Given the description of an element on the screen output the (x, y) to click on. 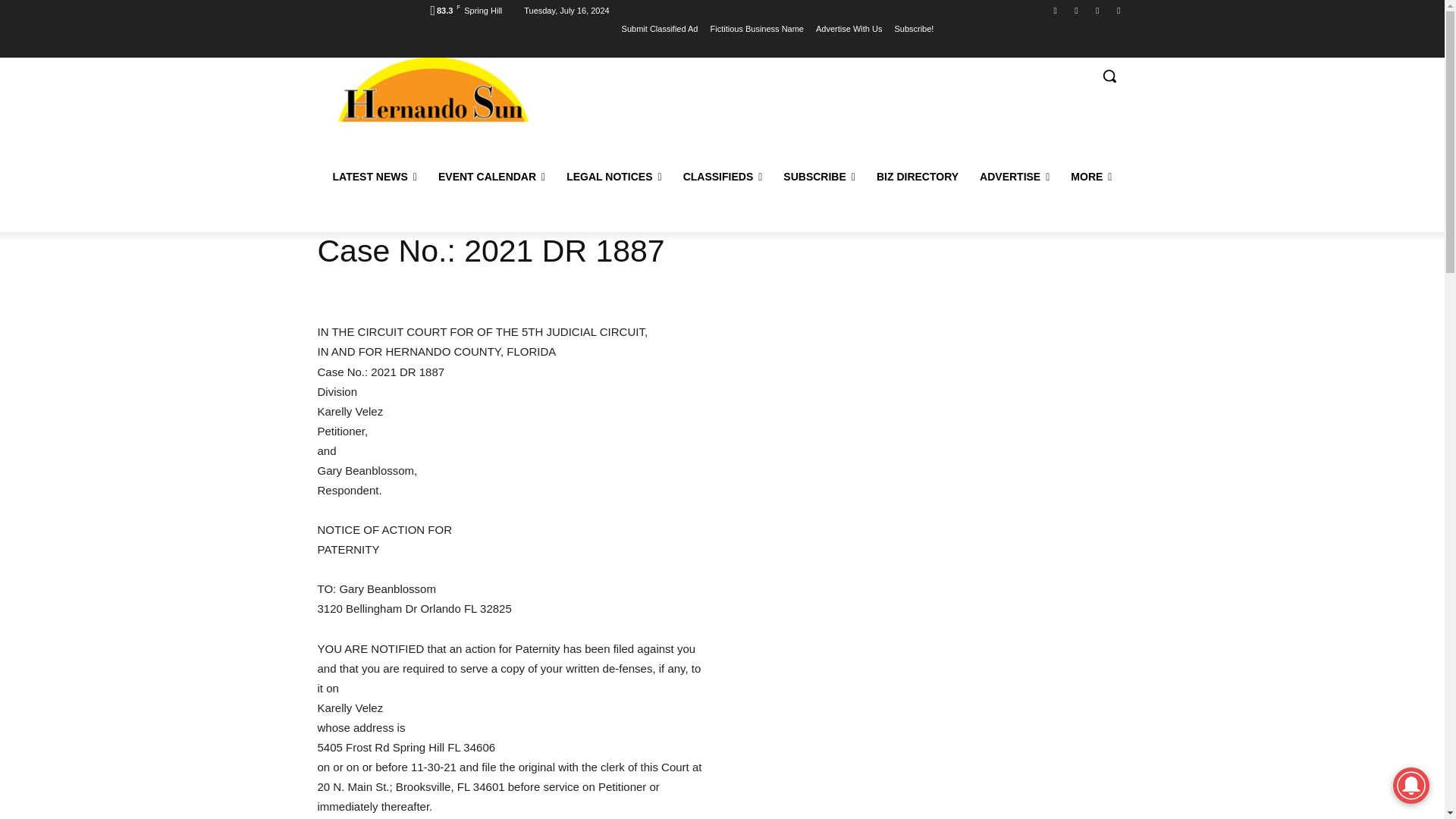
3rd party ad content (820, 108)
Hernando Sun Logo (432, 89)
Twitter (1075, 9)
Facebook (1055, 9)
Youtube (1097, 9)
Instagram (1117, 9)
